Given the description of an element on the screen output the (x, y) to click on. 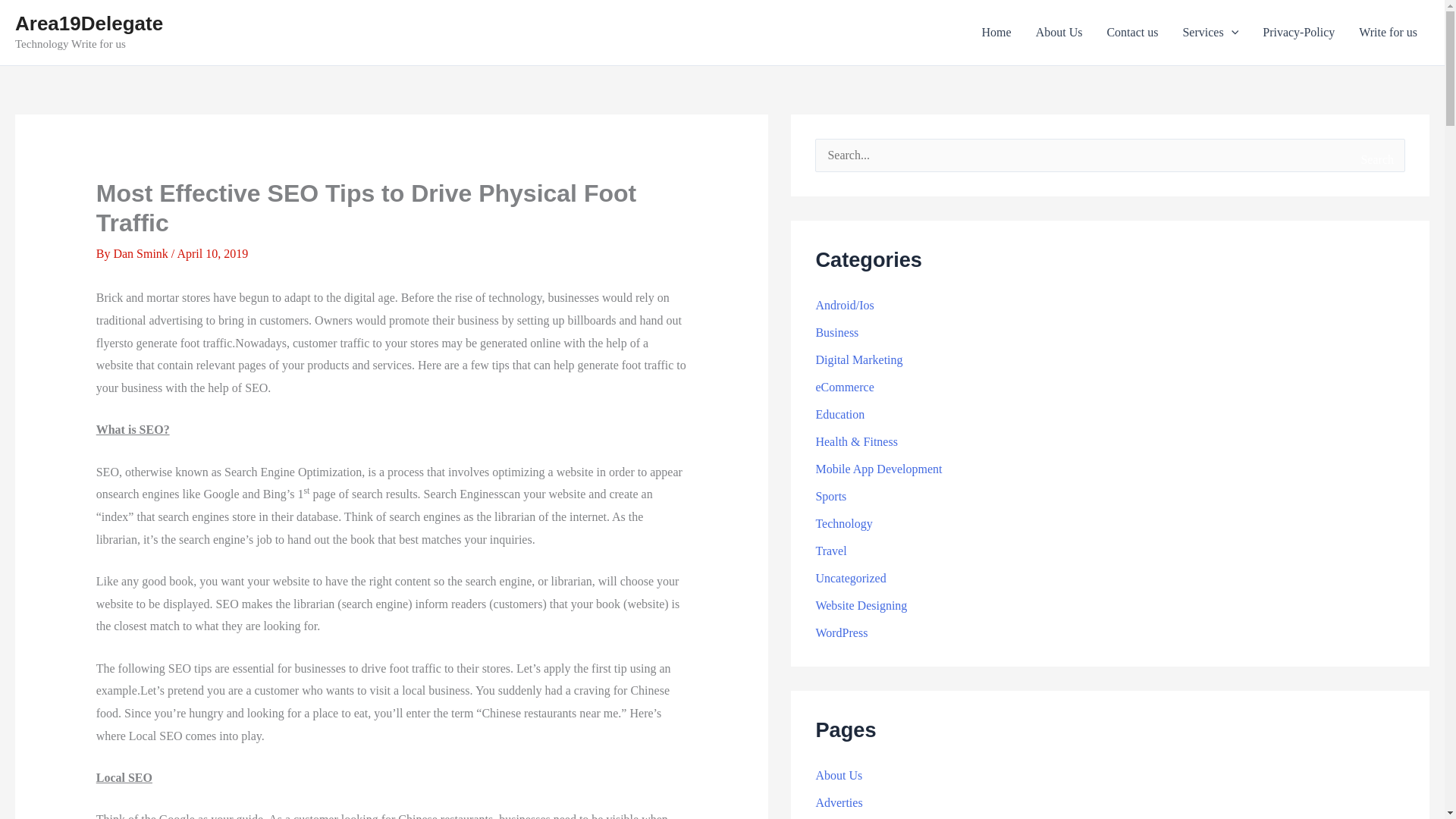
View all posts by Dan Smink (141, 253)
Dan Smink (141, 253)
Search (1376, 159)
About Us (1058, 32)
Area19Delegate (88, 23)
Write for us (1387, 32)
Services (1210, 32)
Privacy-Policy (1298, 32)
Contact us (1132, 32)
